Given the description of an element on the screen output the (x, y) to click on. 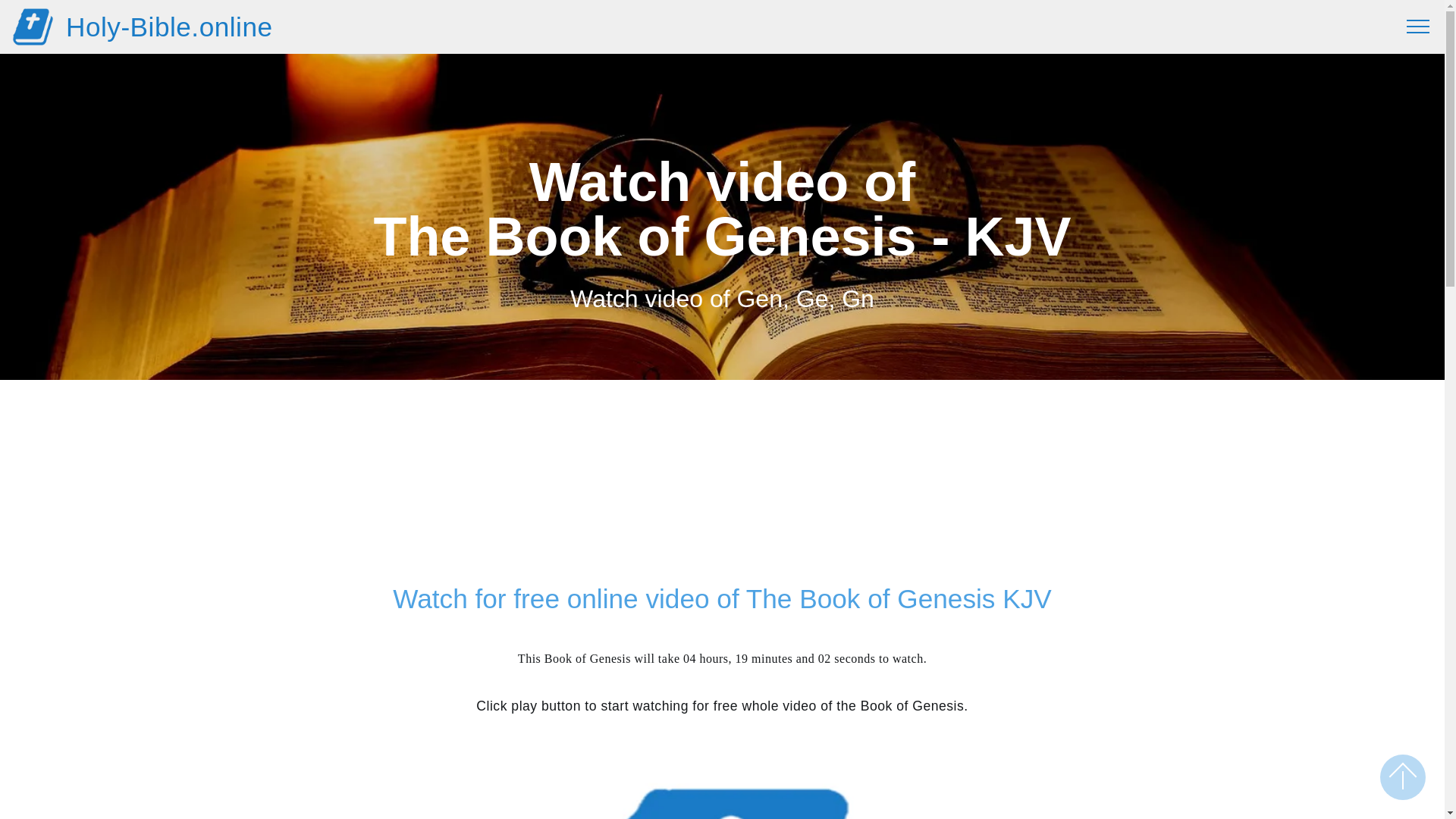
3rd party ad content (721, 488)
YouTube video (721, 778)
Holy-Bible.online (169, 26)
